Given the description of an element on the screen output the (x, y) to click on. 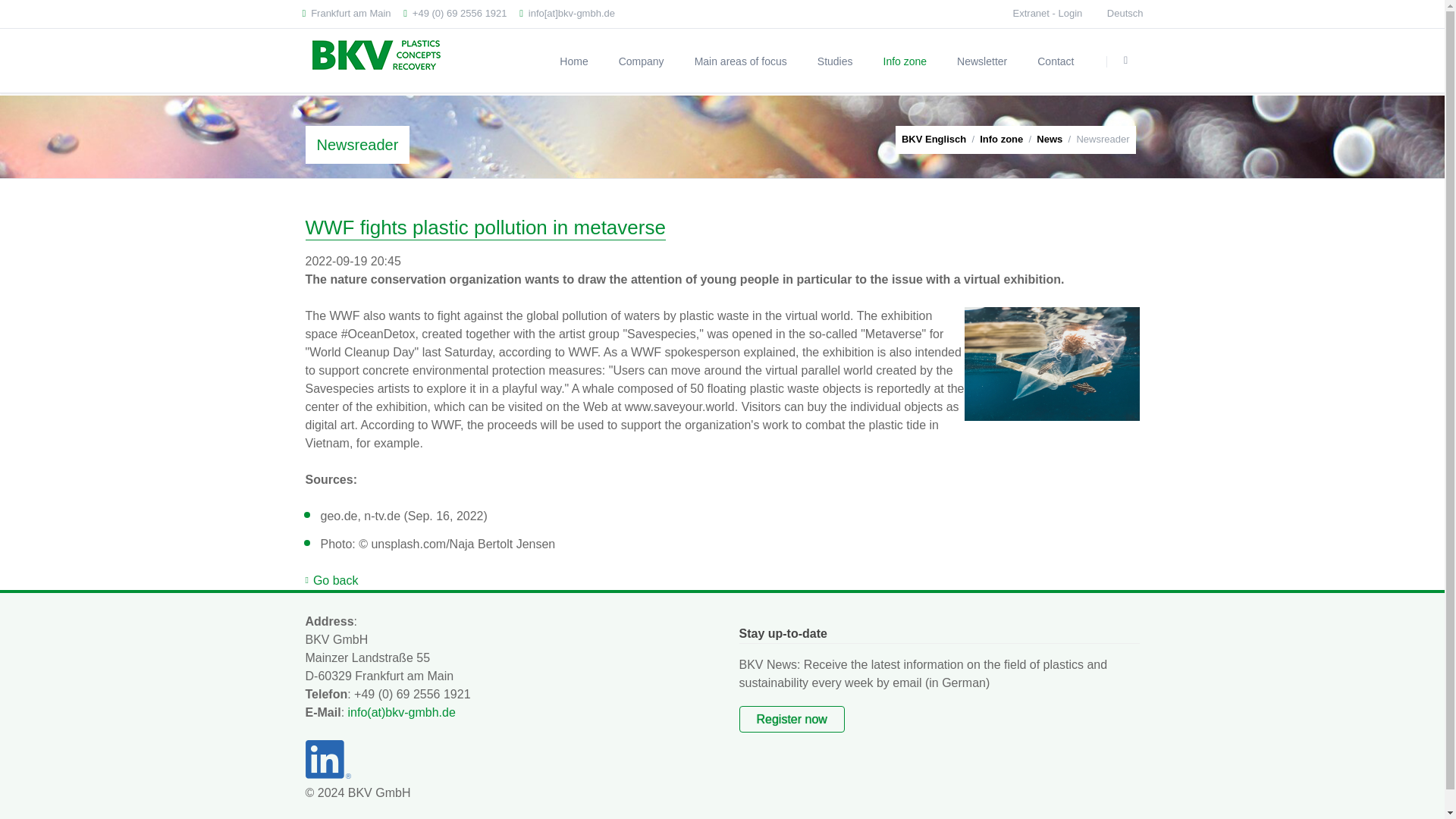
Extranet - Login (1048, 12)
Deutsch (1124, 13)
Frankfurt am Main (345, 13)
